Given the description of an element on the screen output the (x, y) to click on. 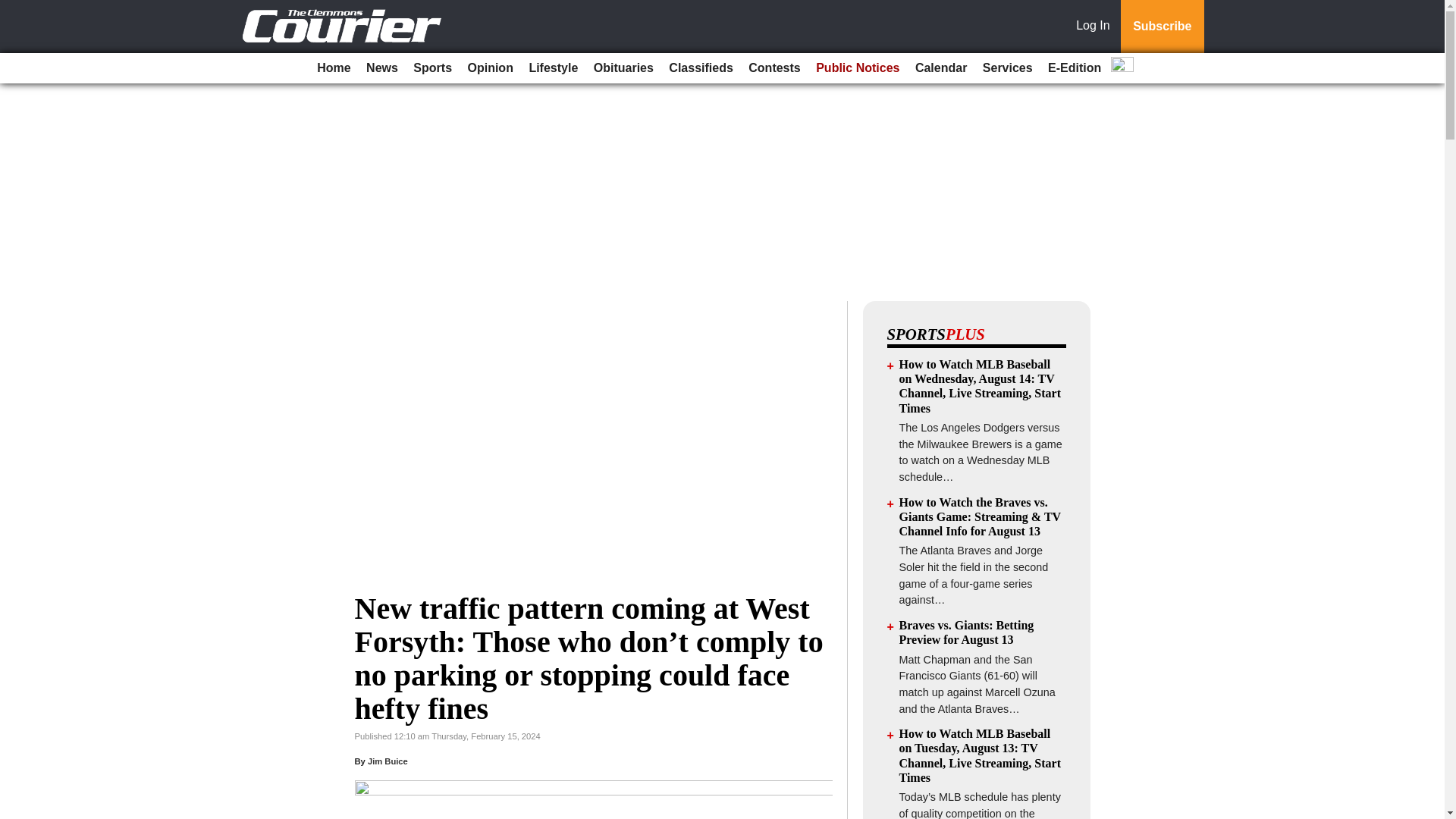
Braves vs. Giants: Betting Preview for August 13 (966, 632)
Public Notices (857, 68)
Home (333, 68)
Go (13, 9)
Opinion (489, 68)
E-Edition (1074, 68)
Classifieds (700, 68)
Obituaries (623, 68)
Services (1007, 68)
